Given the description of an element on the screen output the (x, y) to click on. 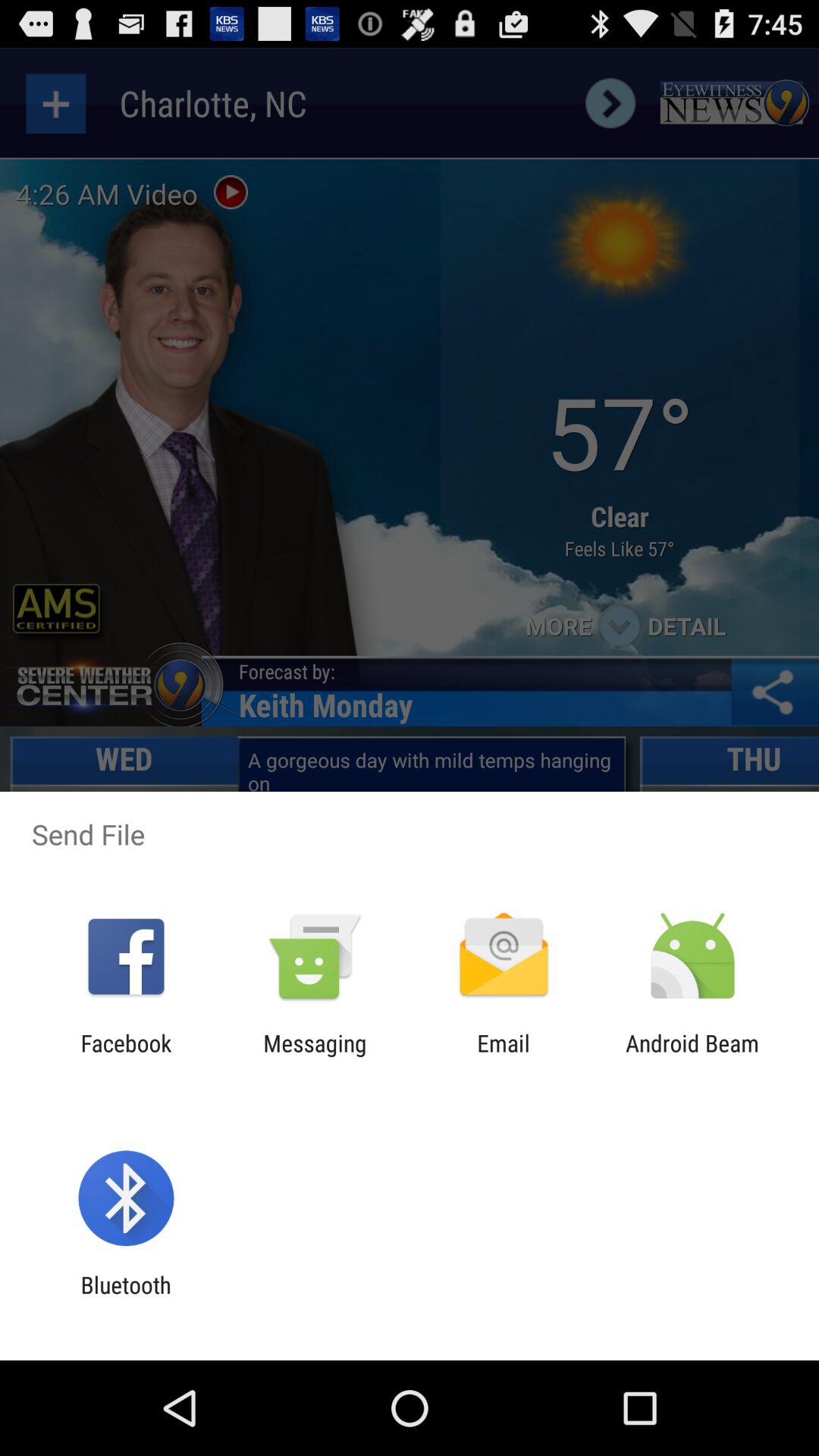
turn on icon to the right of the email (692, 1056)
